Given the description of an element on the screen output the (x, y) to click on. 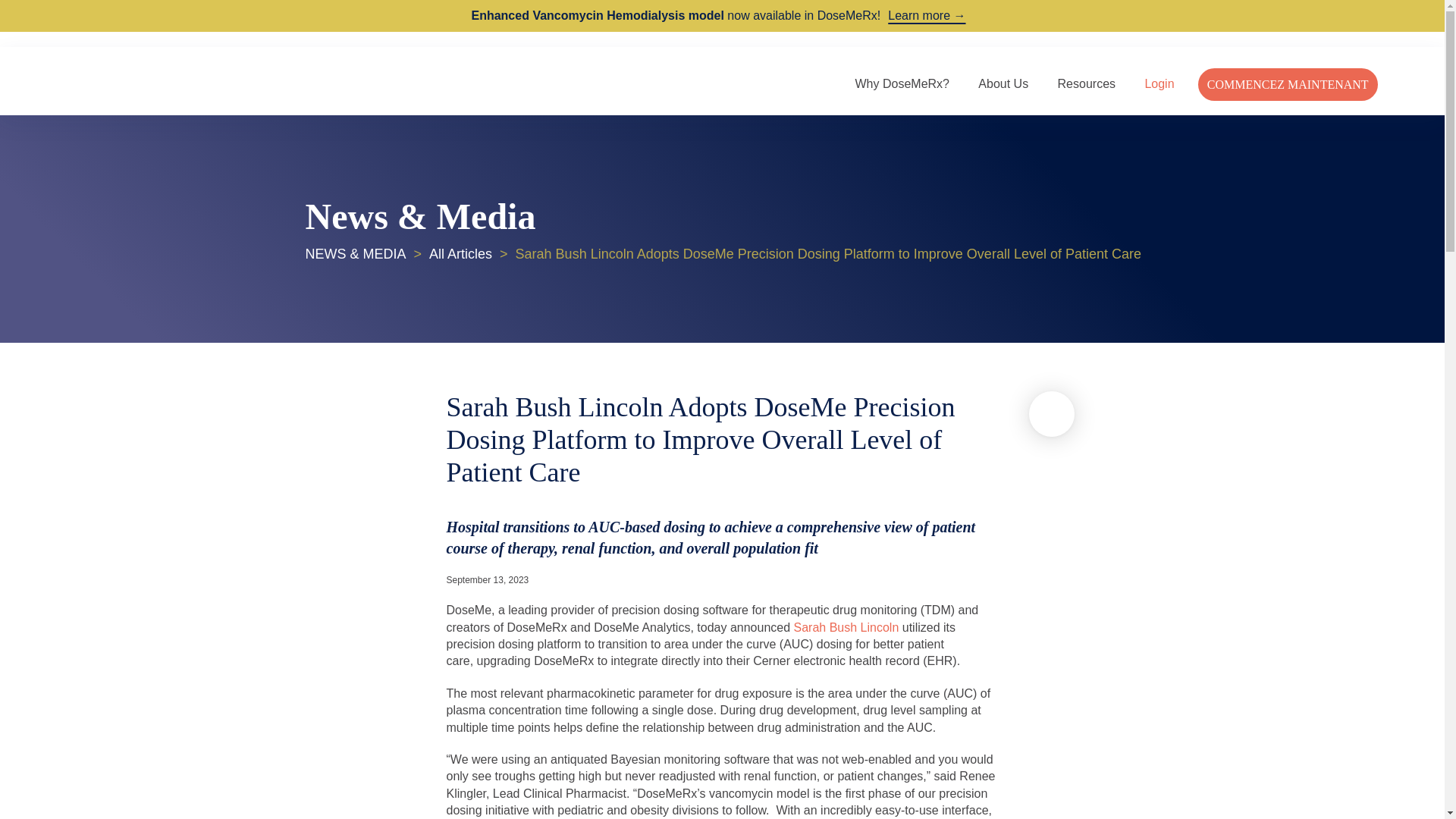
All Articles (460, 253)
Login (1159, 83)
About Us (1002, 83)
COMMENCEZ MAINTENANT (1287, 83)
Sarah Bush Lincoln (846, 626)
Resources (1085, 83)
Why DoseMeRx? (901, 83)
